Given the description of an element on the screen output the (x, y) to click on. 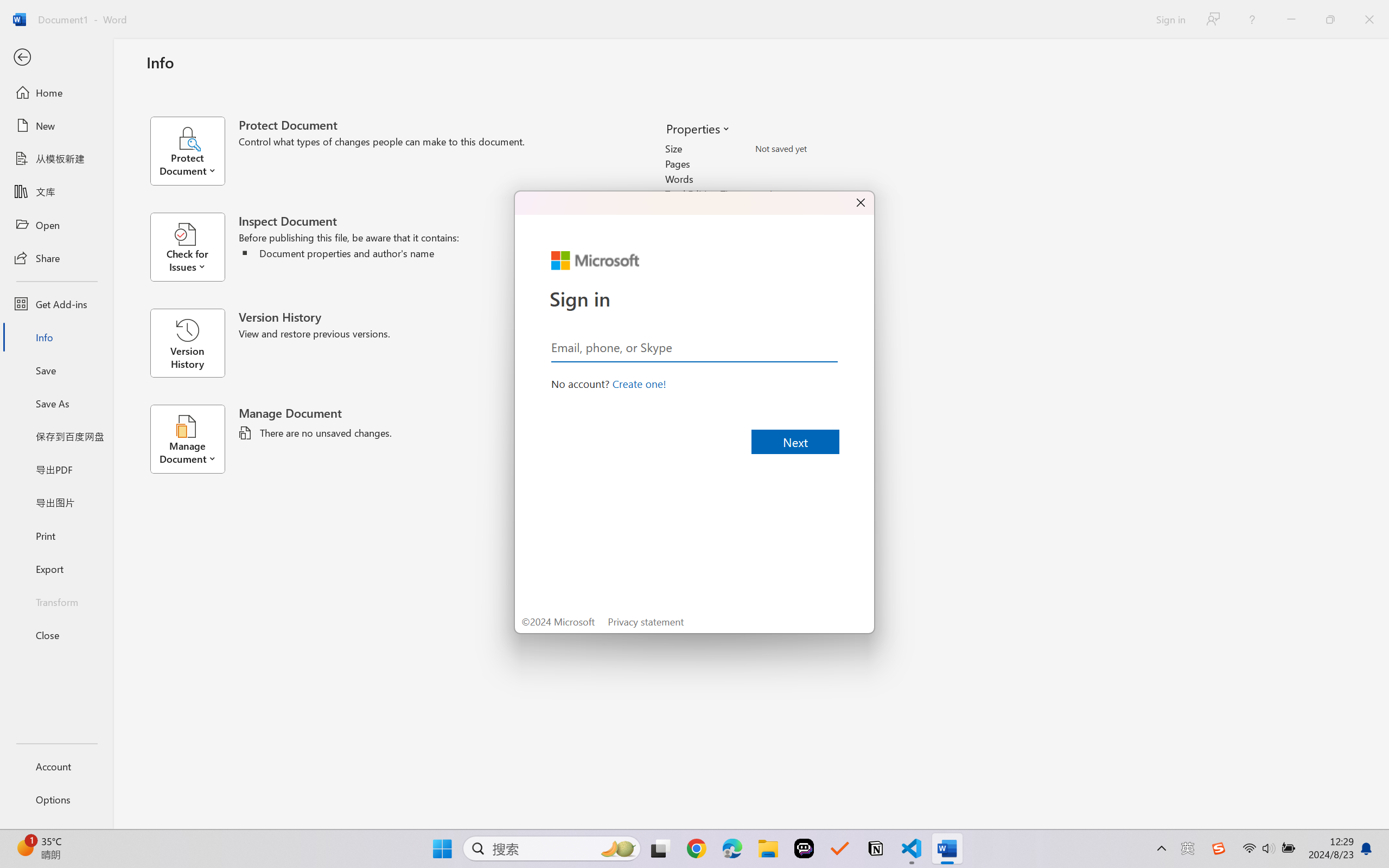
Info (56, 337)
Options (56, 798)
Properties (696, 128)
Version History (187, 343)
Transform (56, 601)
